Given the description of an element on the screen output the (x, y) to click on. 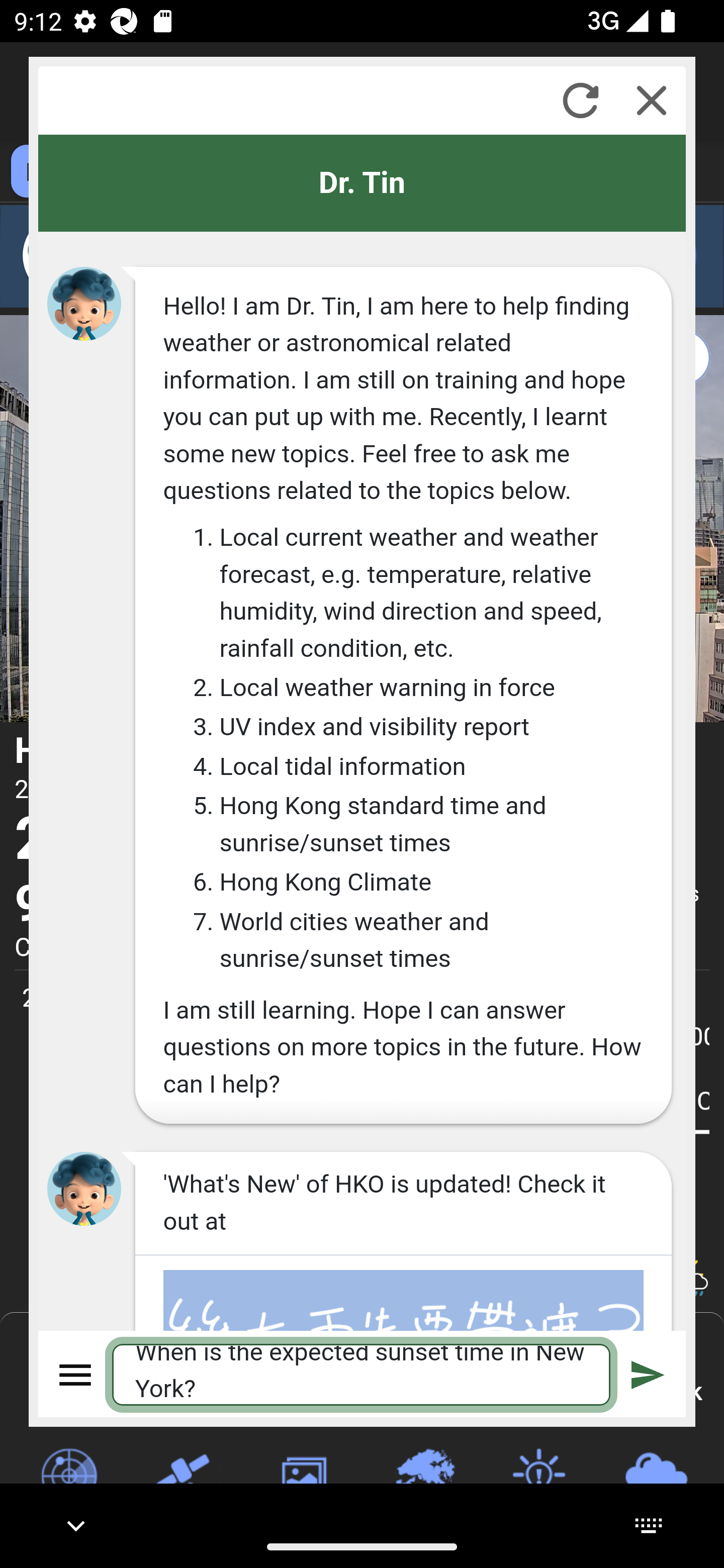
Refresh (580, 100)
Close (651, 100)
Menu (75, 1374)
Submit (648, 1374)
When is the expected sunset time in New York? (361, 1374)
